Given the description of an element on the screen output the (x, y) to click on. 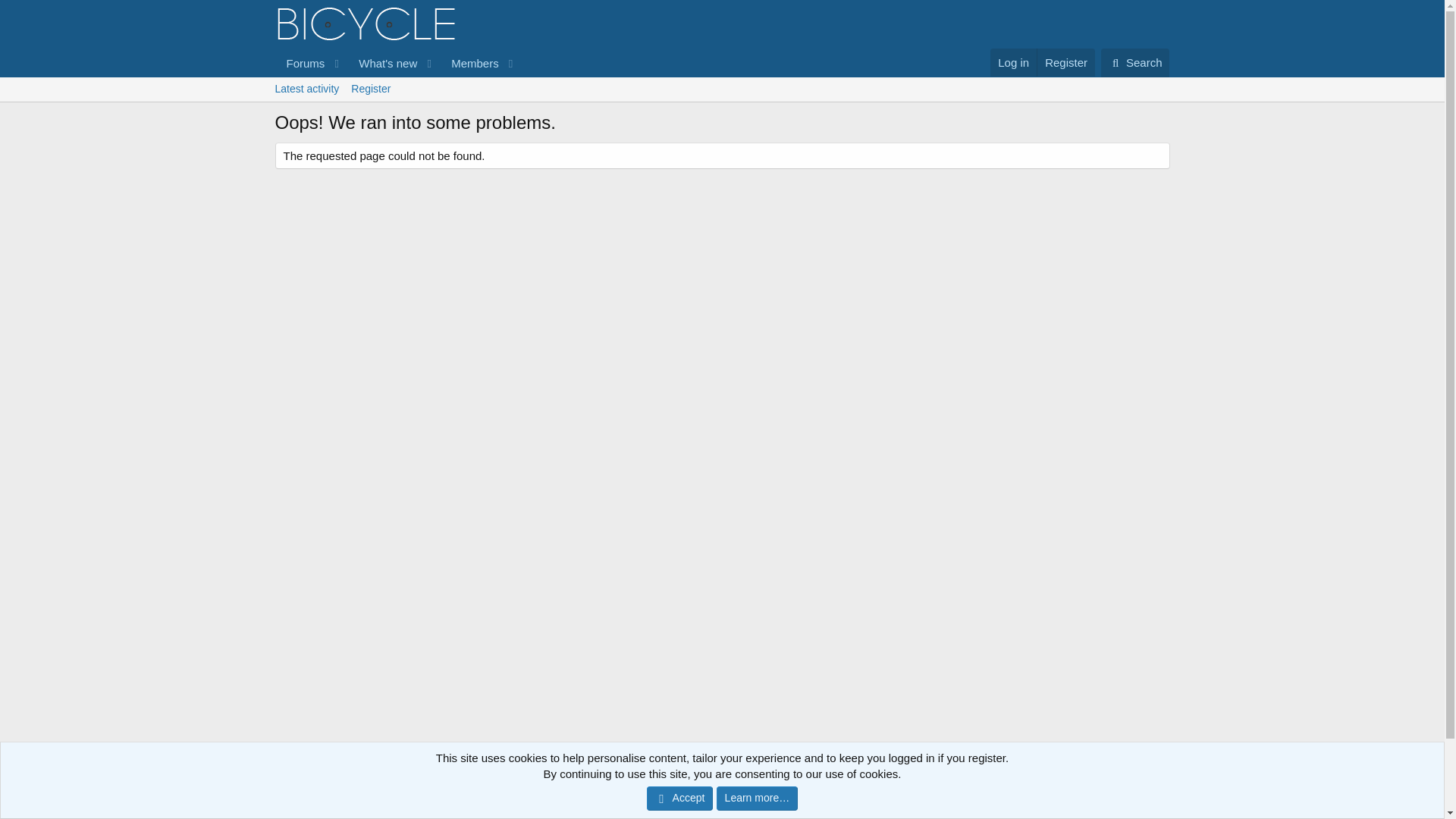
Latest activity (306, 88)
RSS (1160, 776)
Forums (300, 62)
What's new (383, 62)
Search (1135, 62)
RSS (1160, 776)
Members (469, 62)
Accept (720, 88)
